Given the description of an element on the screen output the (x, y) to click on. 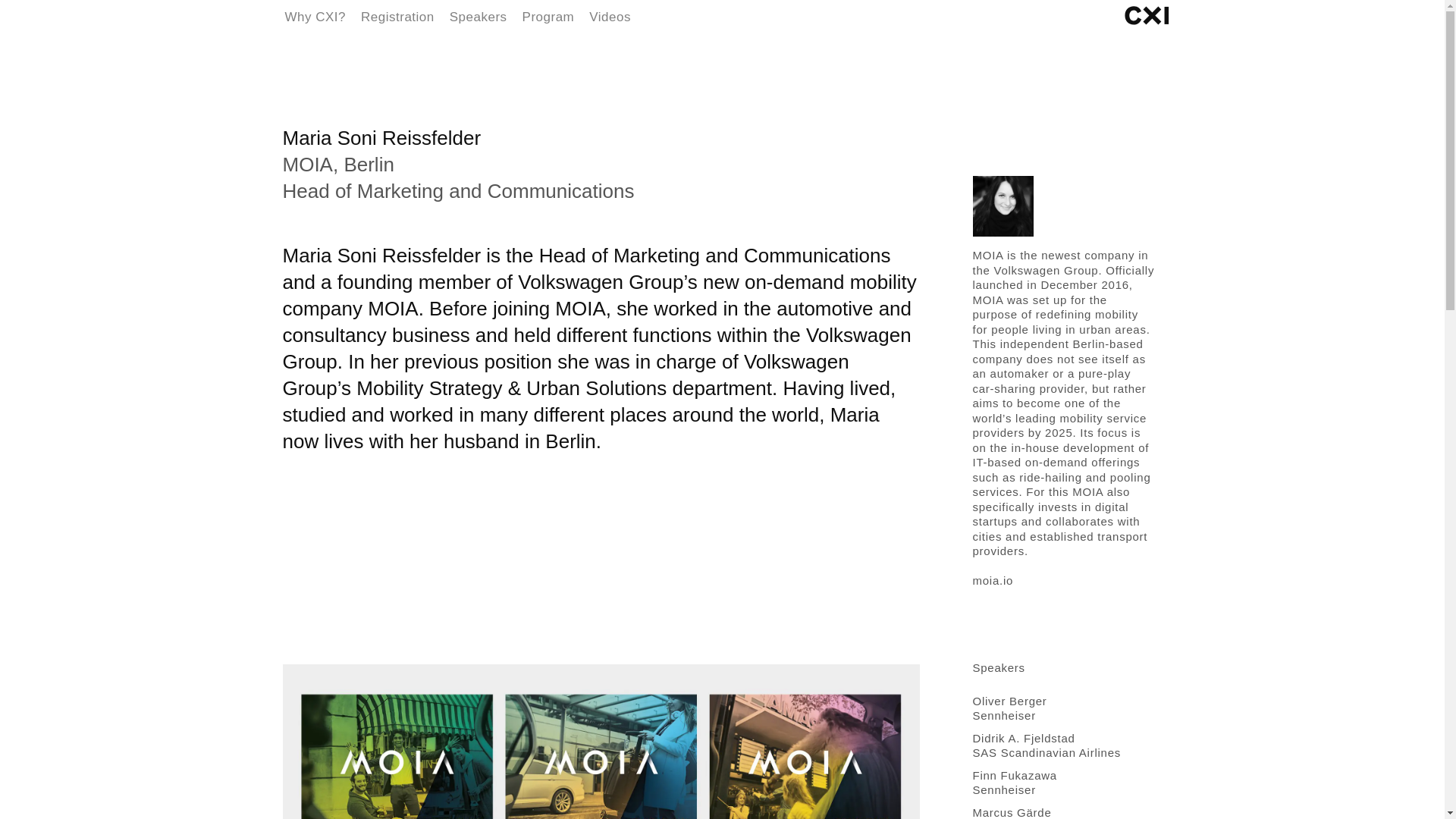
Speakers (477, 16)
Program (548, 16)
Videos (609, 16)
Registration (397, 16)
Why CXI? (315, 16)
